Given the description of an element on the screen output the (x, y) to click on. 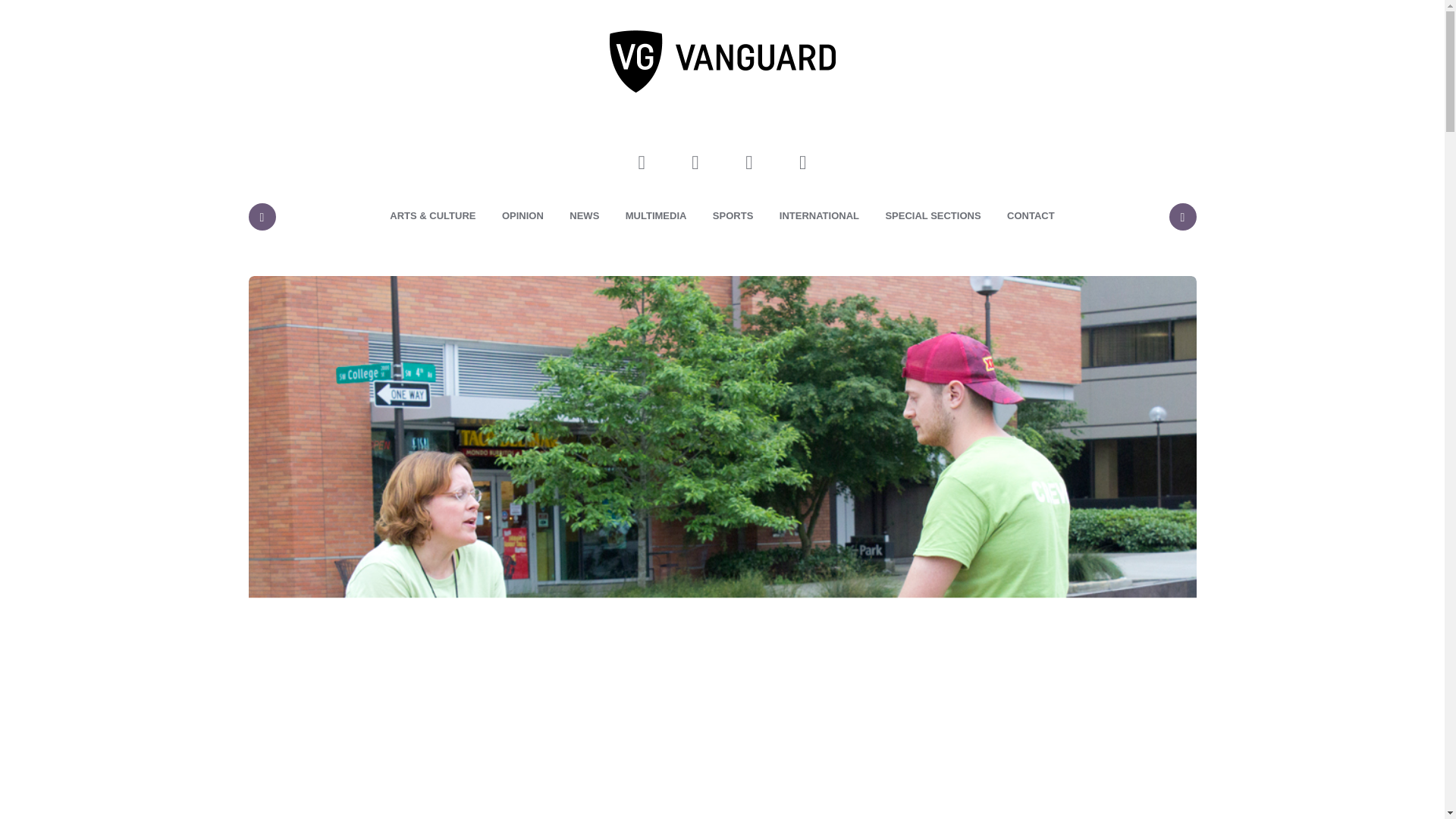
SPECIAL SECTIONS (932, 215)
INTERNATIONAL (819, 215)
MULTIMEDIA (656, 215)
NEWS (583, 215)
CONTACT (1030, 215)
OPINION (522, 215)
SPORTS (732, 215)
